Given the description of an element on the screen output the (x, y) to click on. 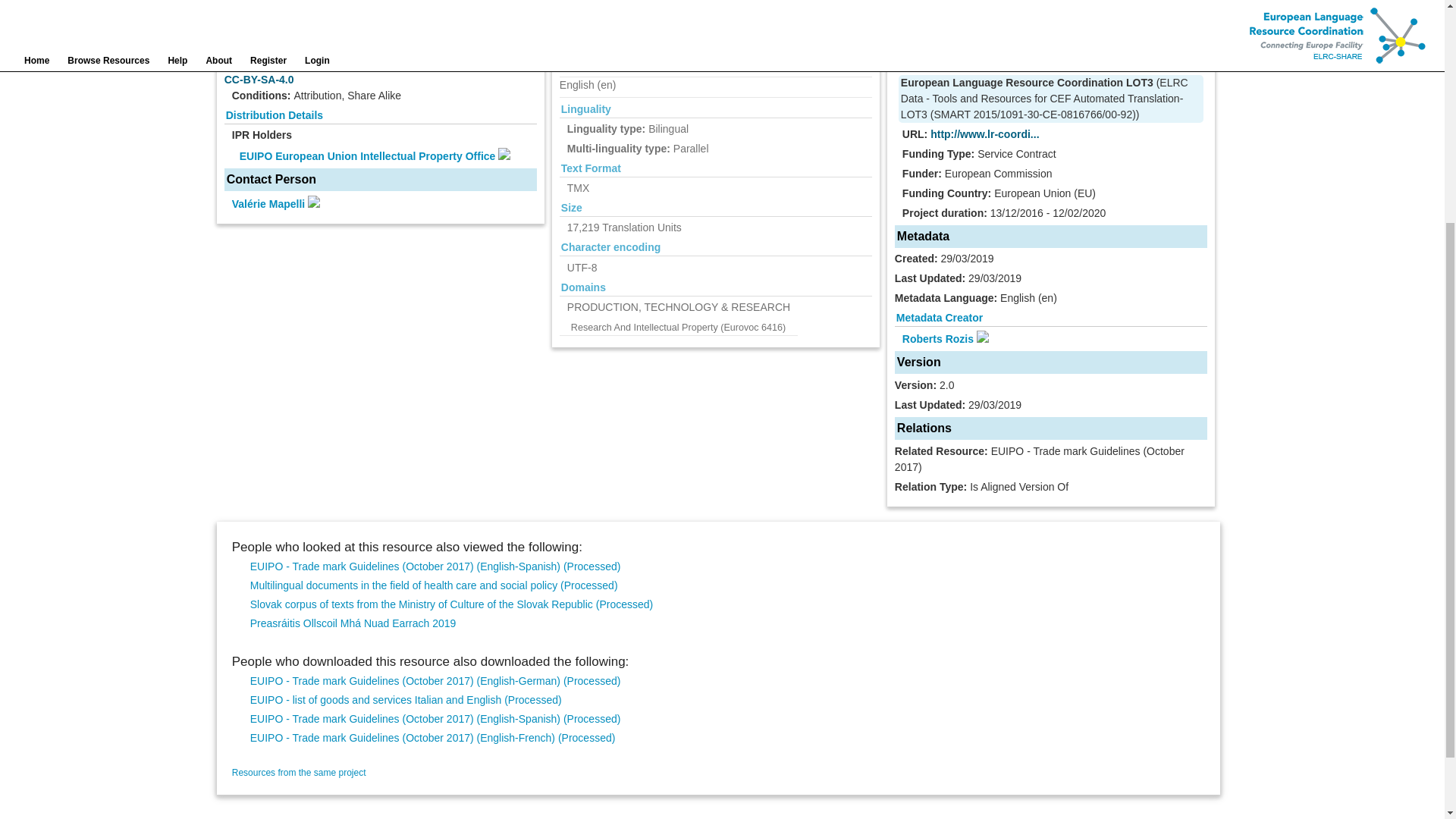
text (593, 0)
en (587, 84)
CC-BY-SA-4.0 (259, 79)
it (581, 64)
